Given the description of an element on the screen output the (x, y) to click on. 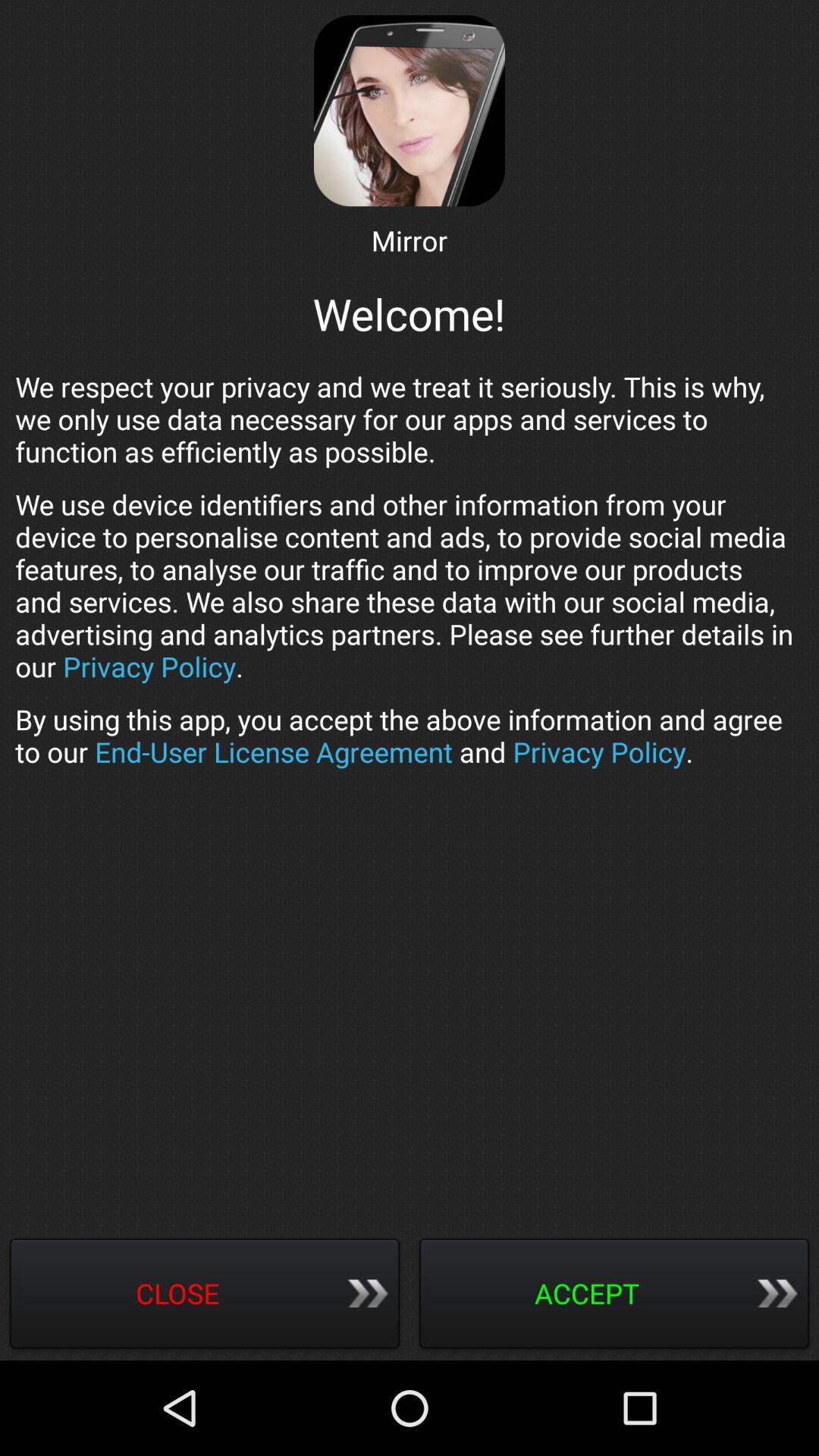
select by using this app (409, 735)
